Given the description of an element on the screen output the (x, y) to click on. 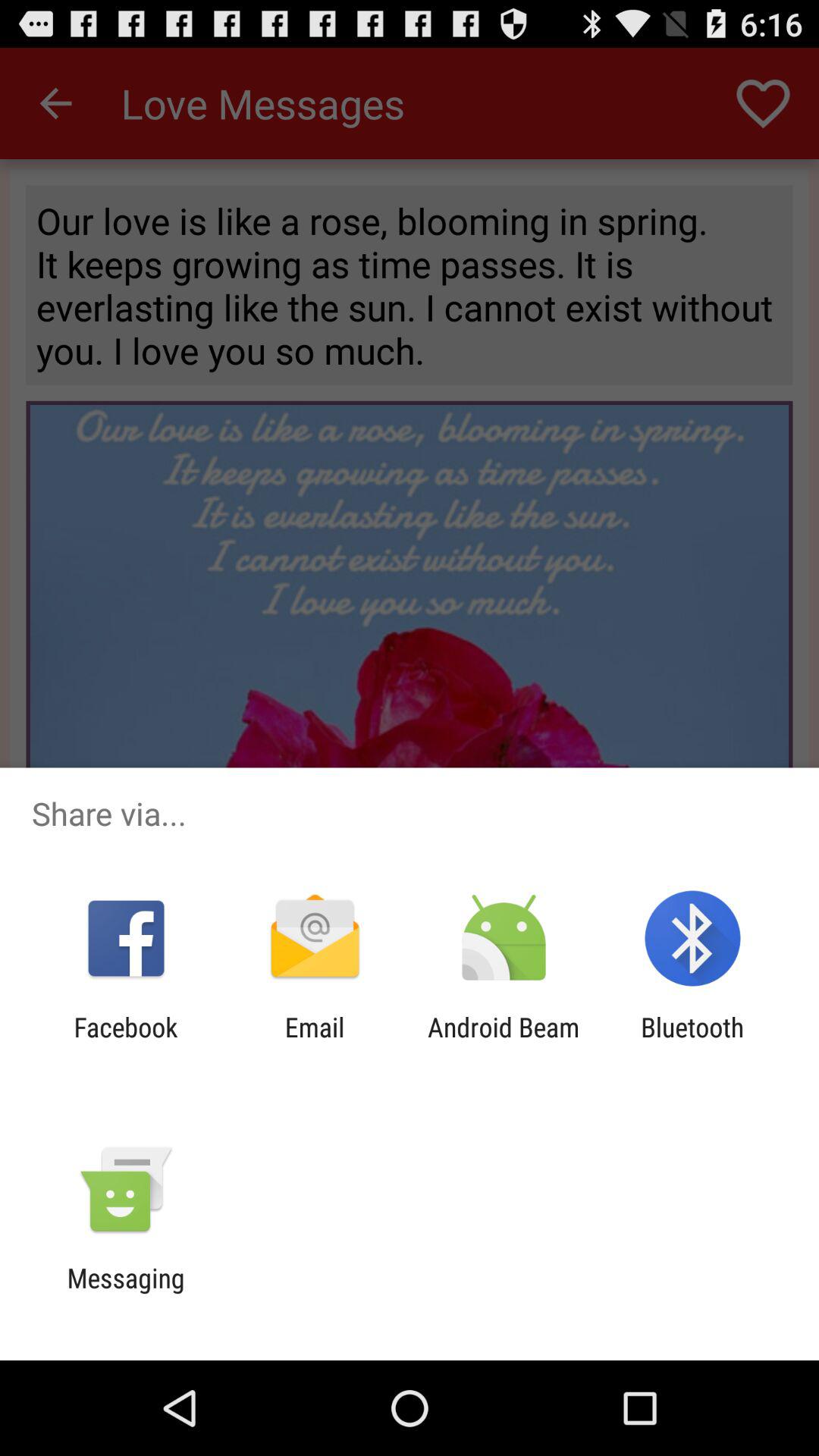
flip to email item (314, 1042)
